Given the description of an element on the screen output the (x, y) to click on. 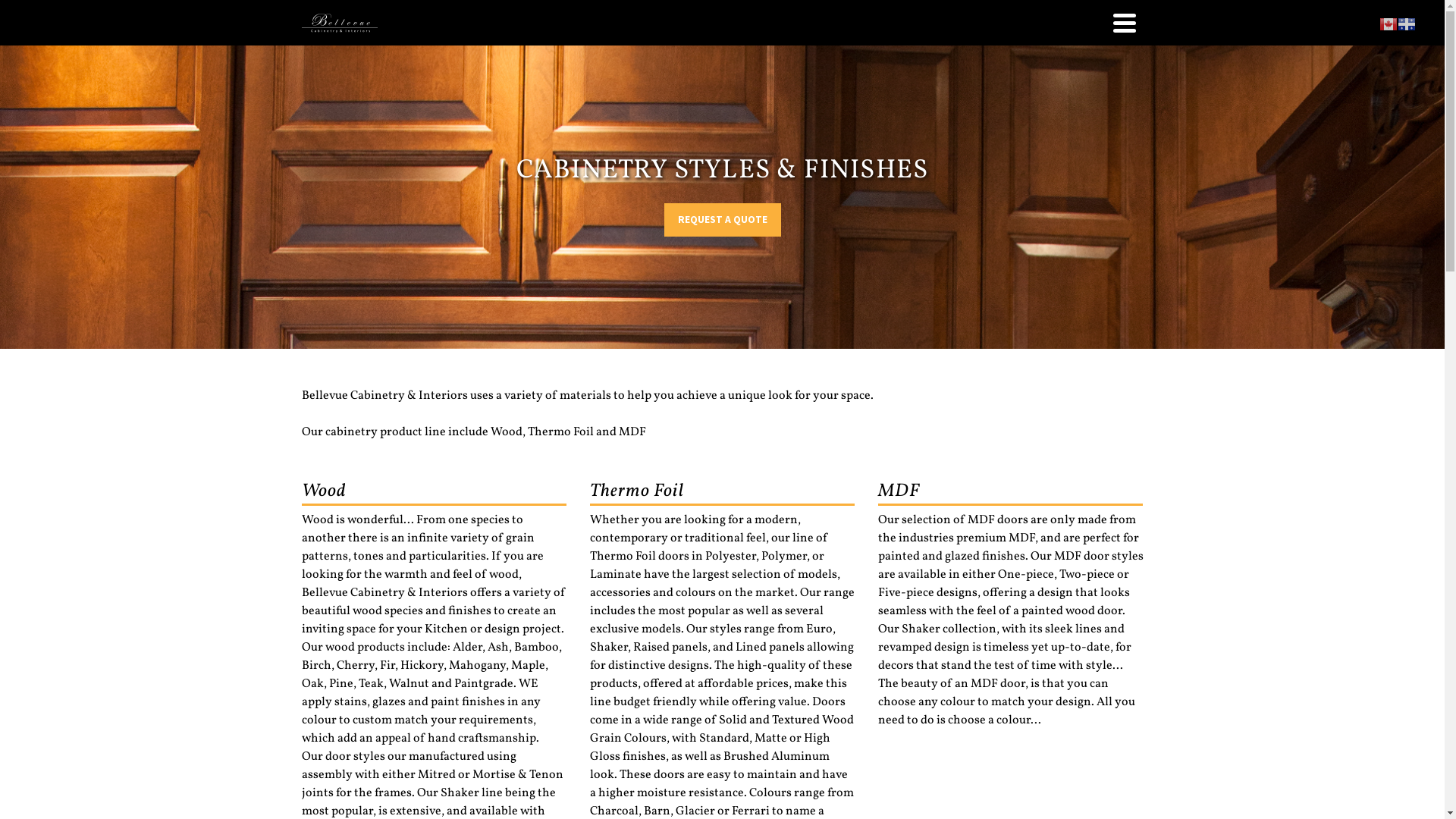
REQUEST A QUOTE Element type: text (722, 219)
English Element type: hover (1388, 23)
French Element type: hover (1406, 23)
